Given the description of an element on the screen output the (x, y) to click on. 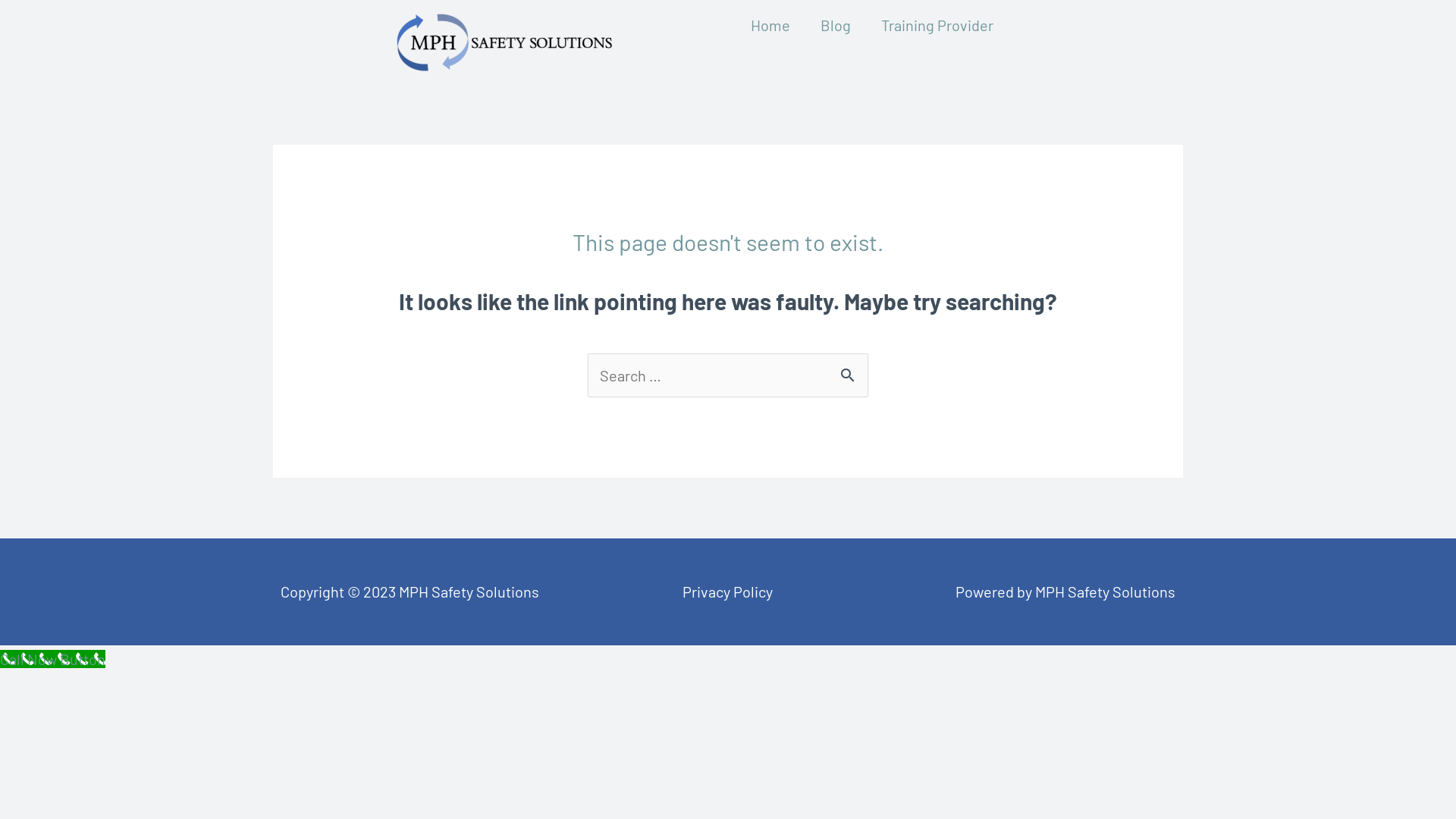
Training Provider Element type: text (937, 24)
Call Now Button Element type: text (52, 658)
Privacy Policy Element type: text (727, 591)
Search Element type: text (851, 369)
Blog Element type: text (835, 24)
Home Element type: text (770, 24)
